Given the description of an element on the screen output the (x, y) to click on. 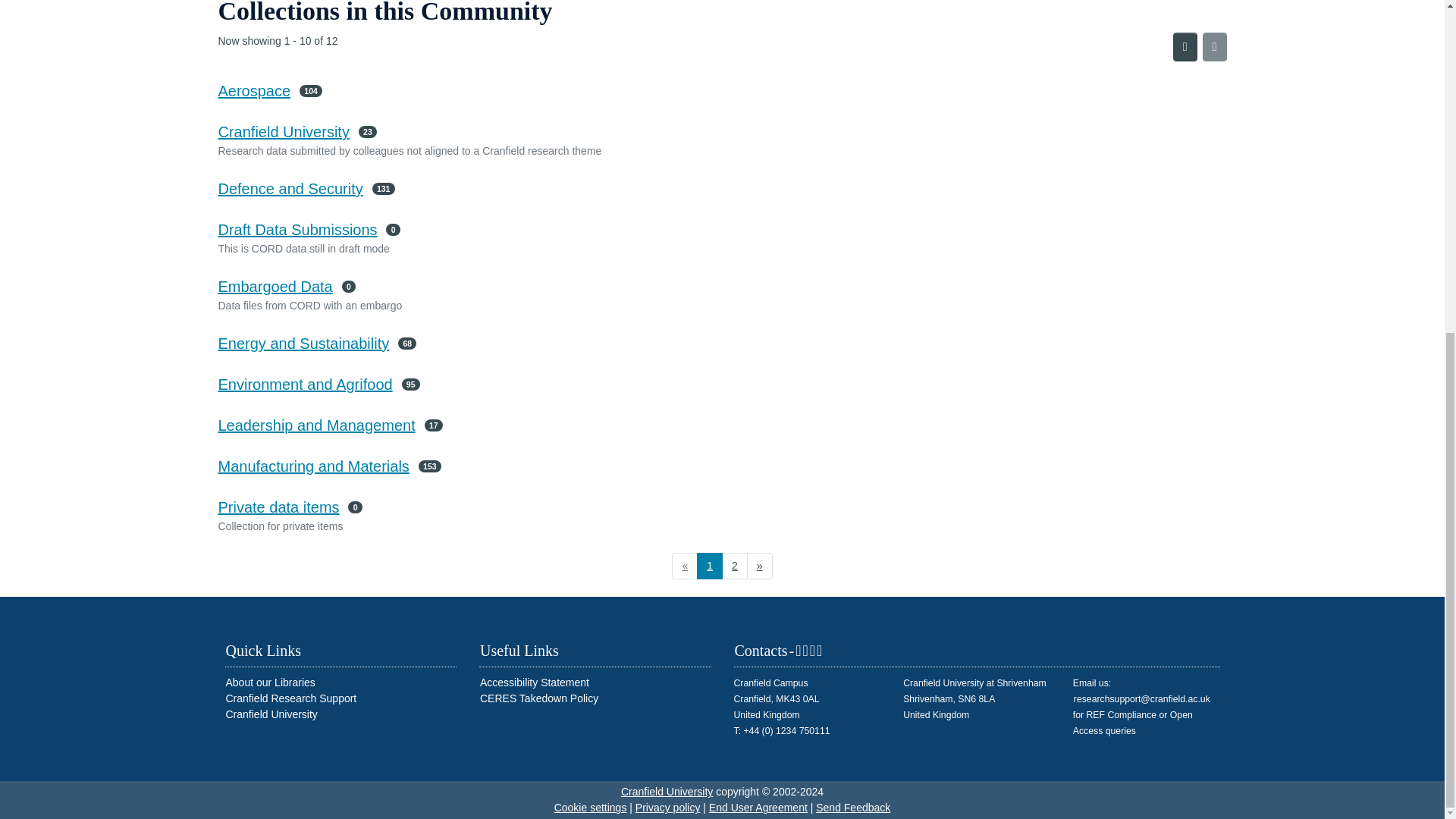
Aerospace (254, 90)
Embargoed Data (275, 286)
Cranfield University (283, 131)
Environment and Agrifood (305, 384)
Defence and Security (290, 188)
Draft Data Submissions (297, 229)
Energy and Sustainability (304, 343)
Leadership and Management (316, 425)
